Given the description of an element on the screen output the (x, y) to click on. 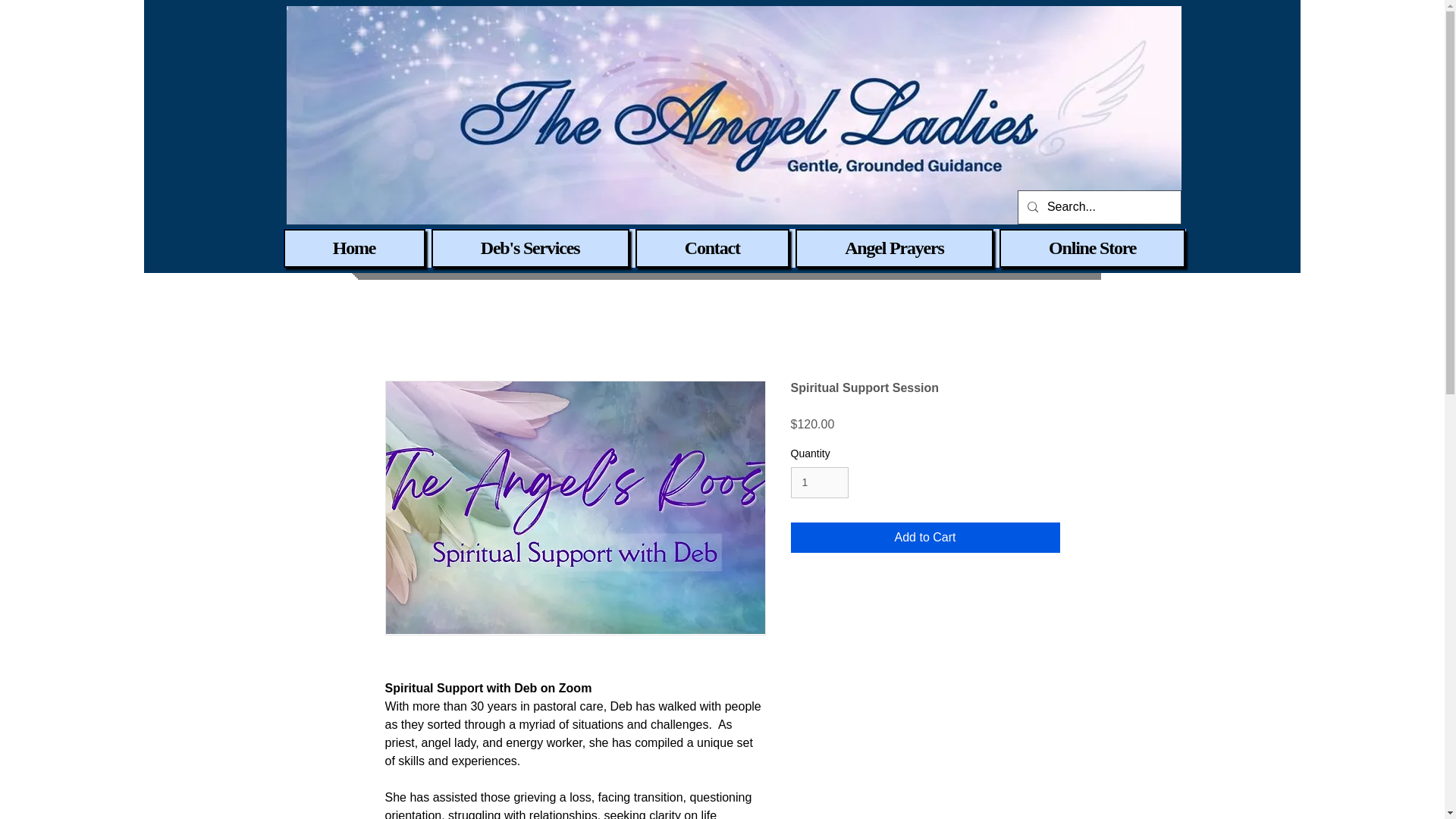
Contact (711, 248)
Deb's Services (529, 248)
1 (818, 481)
Angel Prayers (893, 248)
Online Store (1092, 248)
Add to Cart (924, 537)
Home (354, 248)
